Given the description of an element on the screen output the (x, y) to click on. 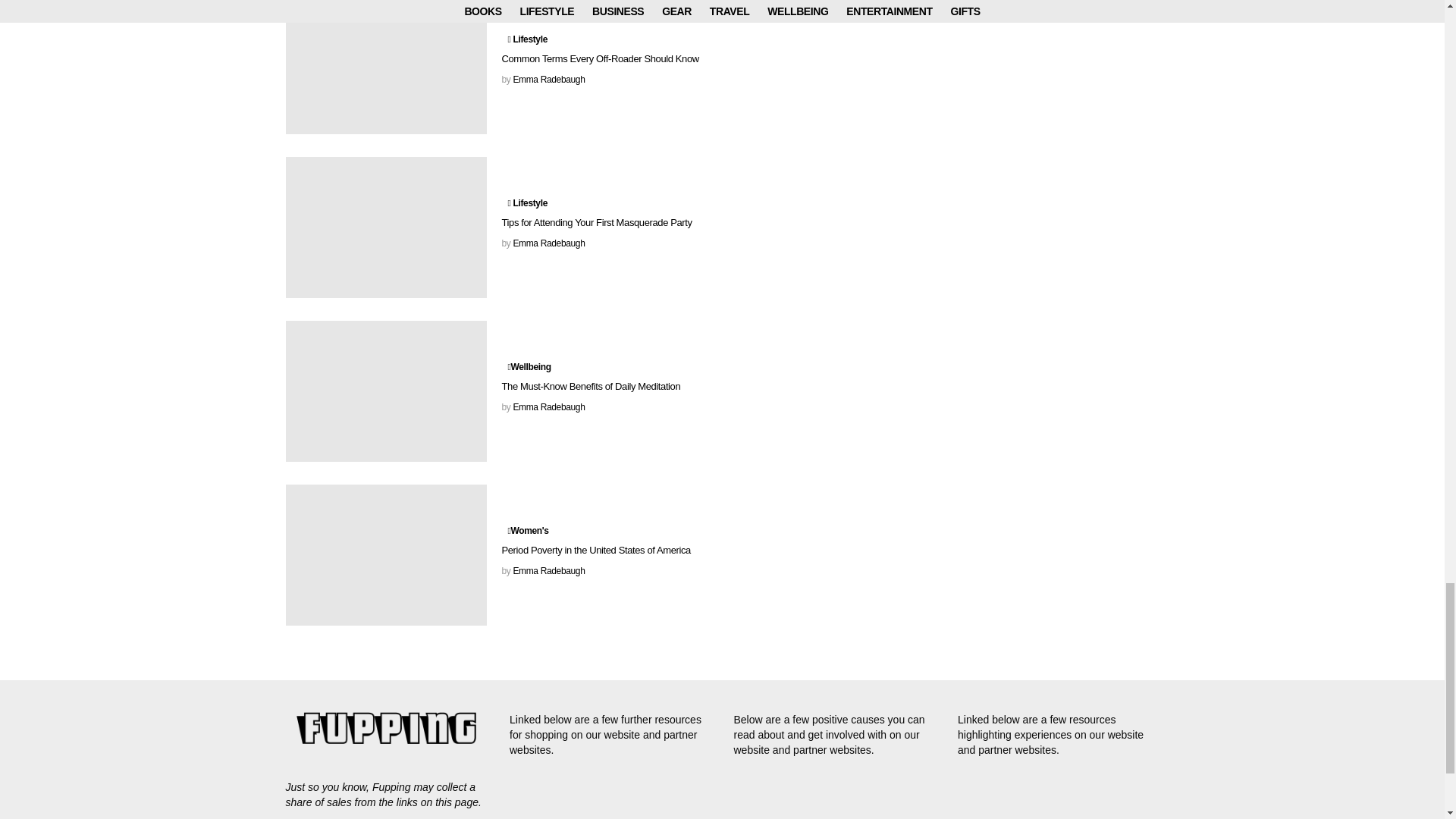
Posts by Emma Radebaugh (548, 570)
Posts by Emma Radebaugh (548, 243)
Posts by Emma Radebaugh (548, 79)
Posts by Emma Radebaugh (548, 407)
Common Terms Every Off-Roader Should Know (385, 67)
Period Poverty in the United States of America (385, 554)
Tips for Attending Your First Masquerade Party (385, 227)
The Must-Know Benefits of Daily Meditation (385, 391)
